Given the description of an element on the screen output the (x, y) to click on. 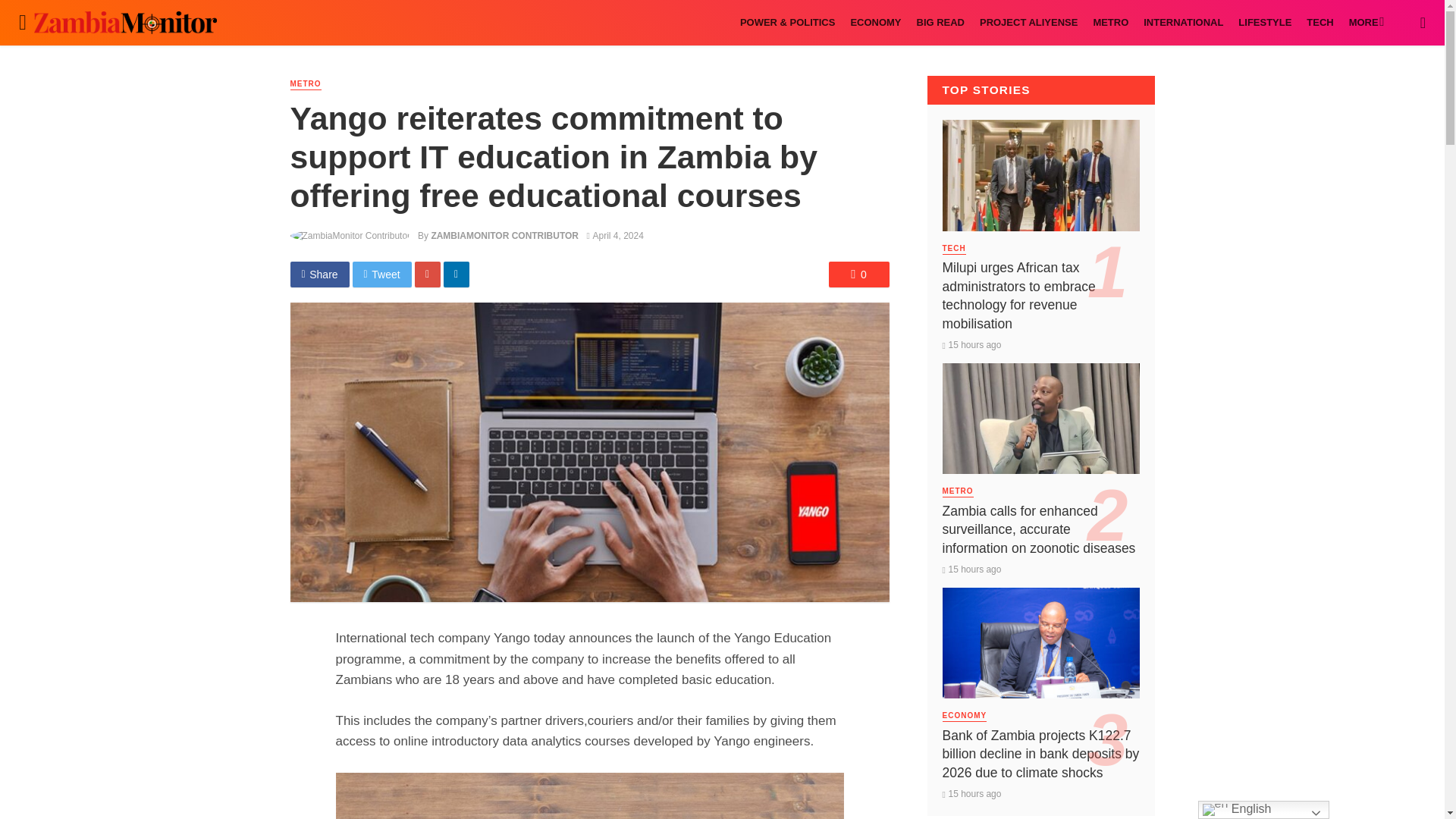
INTERNATIONAL (1182, 22)
TECH (1319, 22)
PROJECT ALIYENSE (1028, 22)
LIFESTYLE (1264, 22)
METRO (1109, 22)
ECONOMY (875, 22)
BIG READ (939, 22)
